Given the description of an element on the screen output the (x, y) to click on. 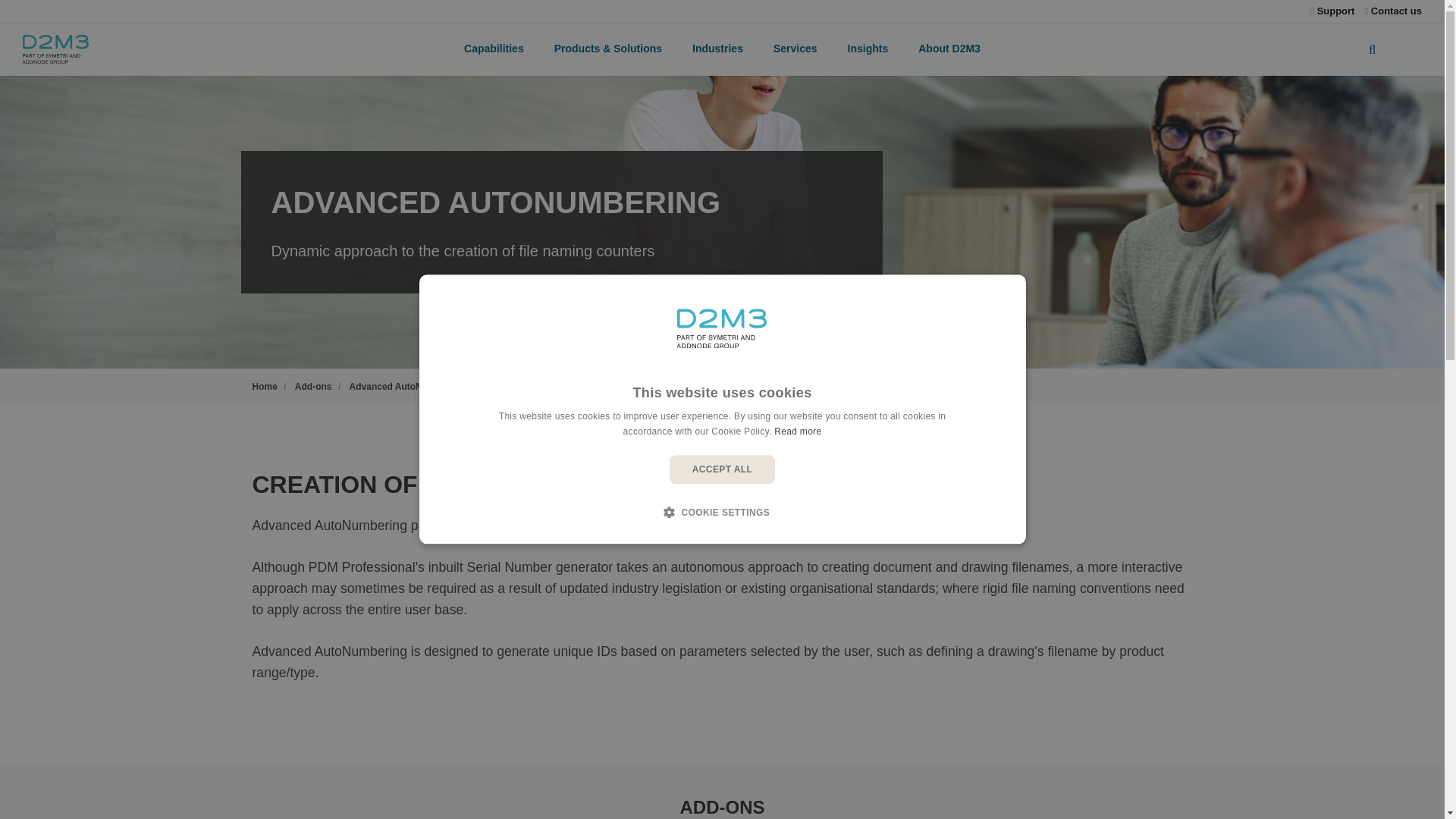
Industries (717, 49)
D2M3 (55, 49)
Capabilities (493, 49)
Support (1332, 11)
Contact us (1393, 11)
Search (1395, 49)
